Given the description of an element on the screen output the (x, y) to click on. 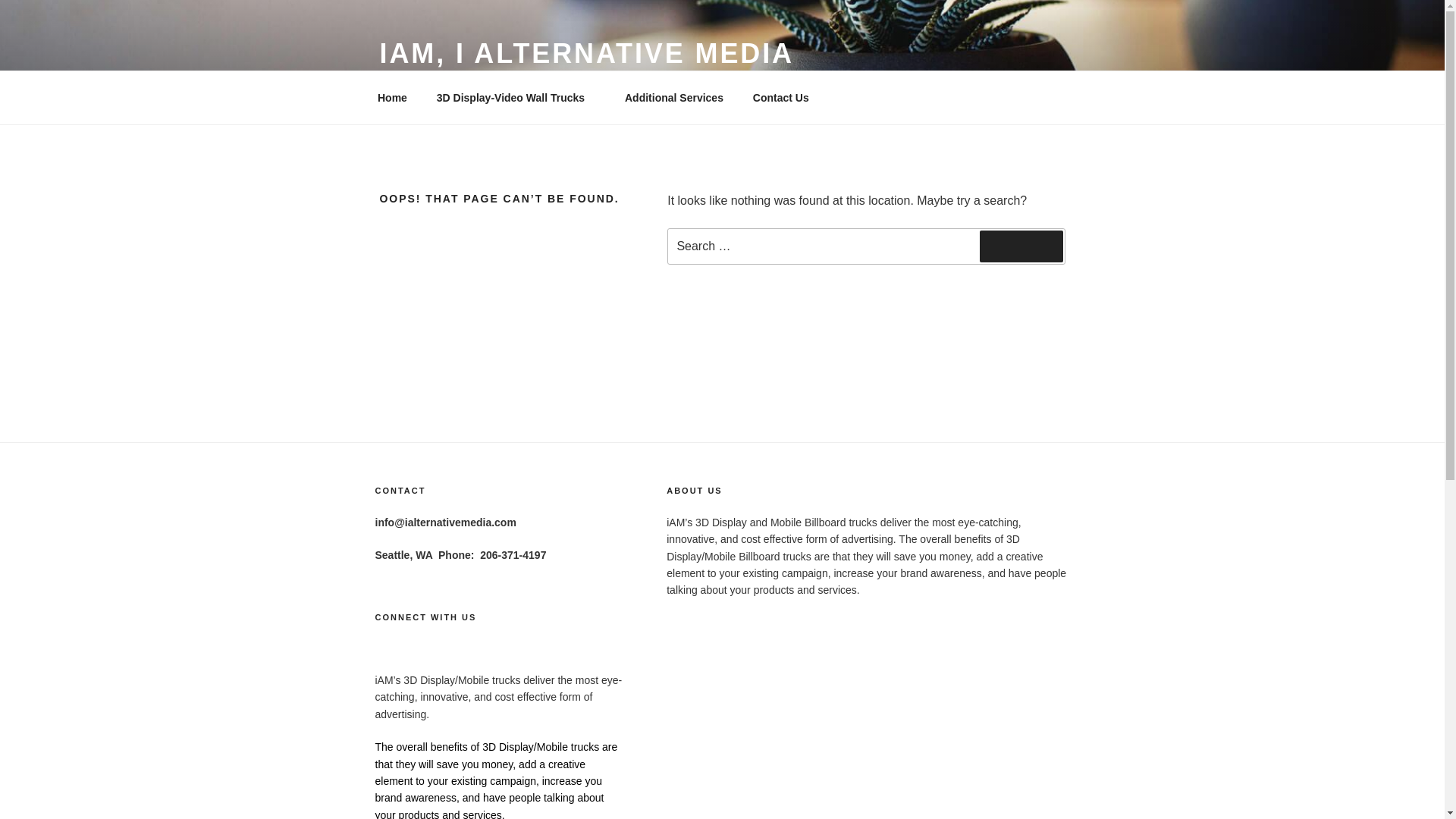
Home (392, 97)
Search (1020, 246)
3D Display-Video Wall Trucks (515, 97)
Contact Us (785, 97)
Additional Services (673, 97)
IAM, I ALTERNATIVE MEDIA (585, 52)
